Given the description of an element on the screen output the (x, y) to click on. 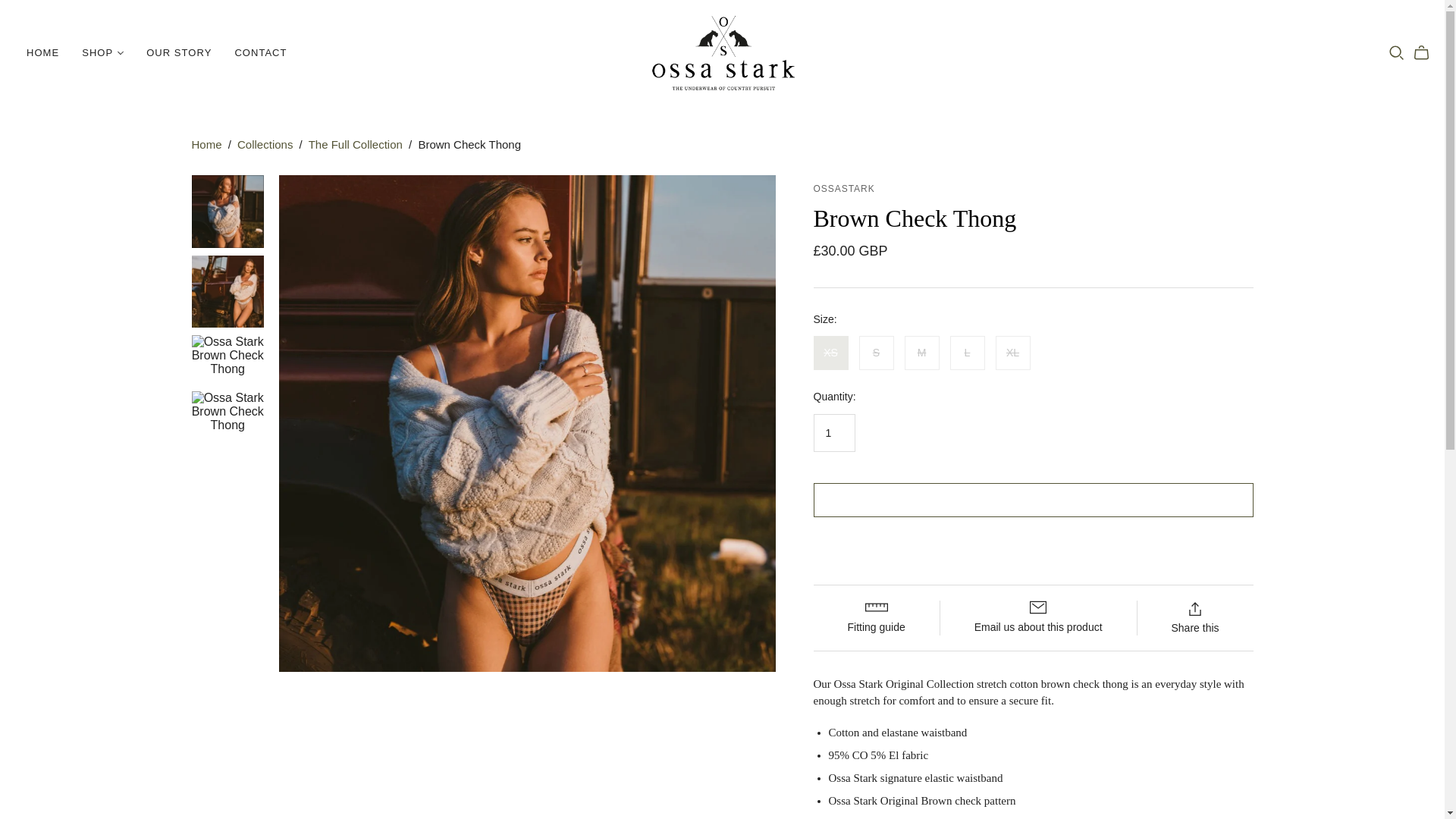
SHOP (102, 53)
1 (833, 433)
CONTACT (260, 53)
The Full Collection (355, 144)
OUR STORY (178, 53)
Home (205, 144)
HOME (41, 53)
Collections (264, 144)
